Given the description of an element on the screen output the (x, y) to click on. 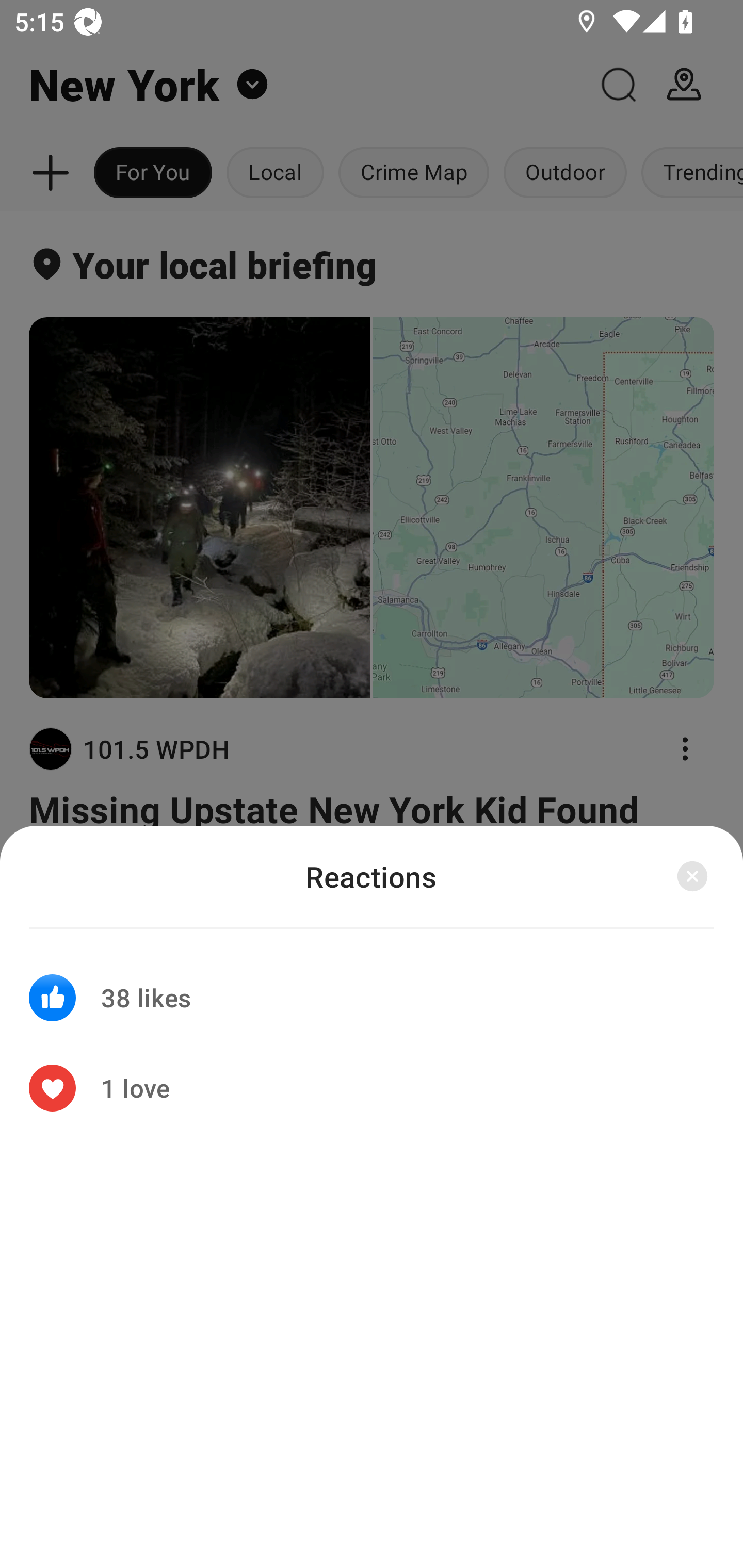
38 likes (371, 985)
1 love (371, 1087)
